Given the description of an element on the screen output the (x, y) to click on. 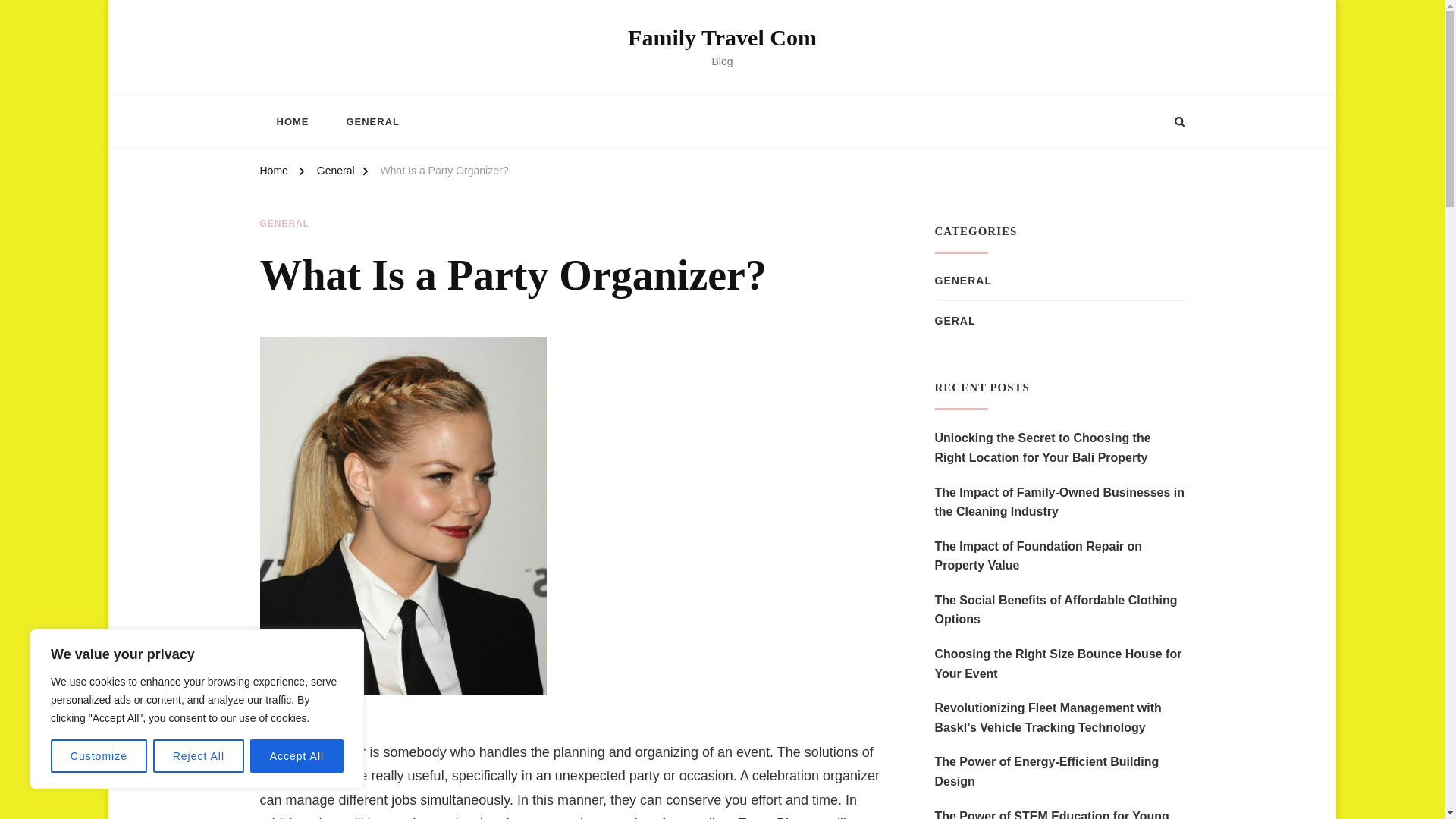
Accept All (296, 756)
Family Travel Com (721, 37)
Customize (98, 756)
Home (272, 172)
Reject All (198, 756)
General (336, 172)
GENERAL (371, 121)
HOME (291, 121)
What Is a Party Organizer? (444, 172)
GENERAL (283, 223)
